Given the description of an element on the screen output the (x, y) to click on. 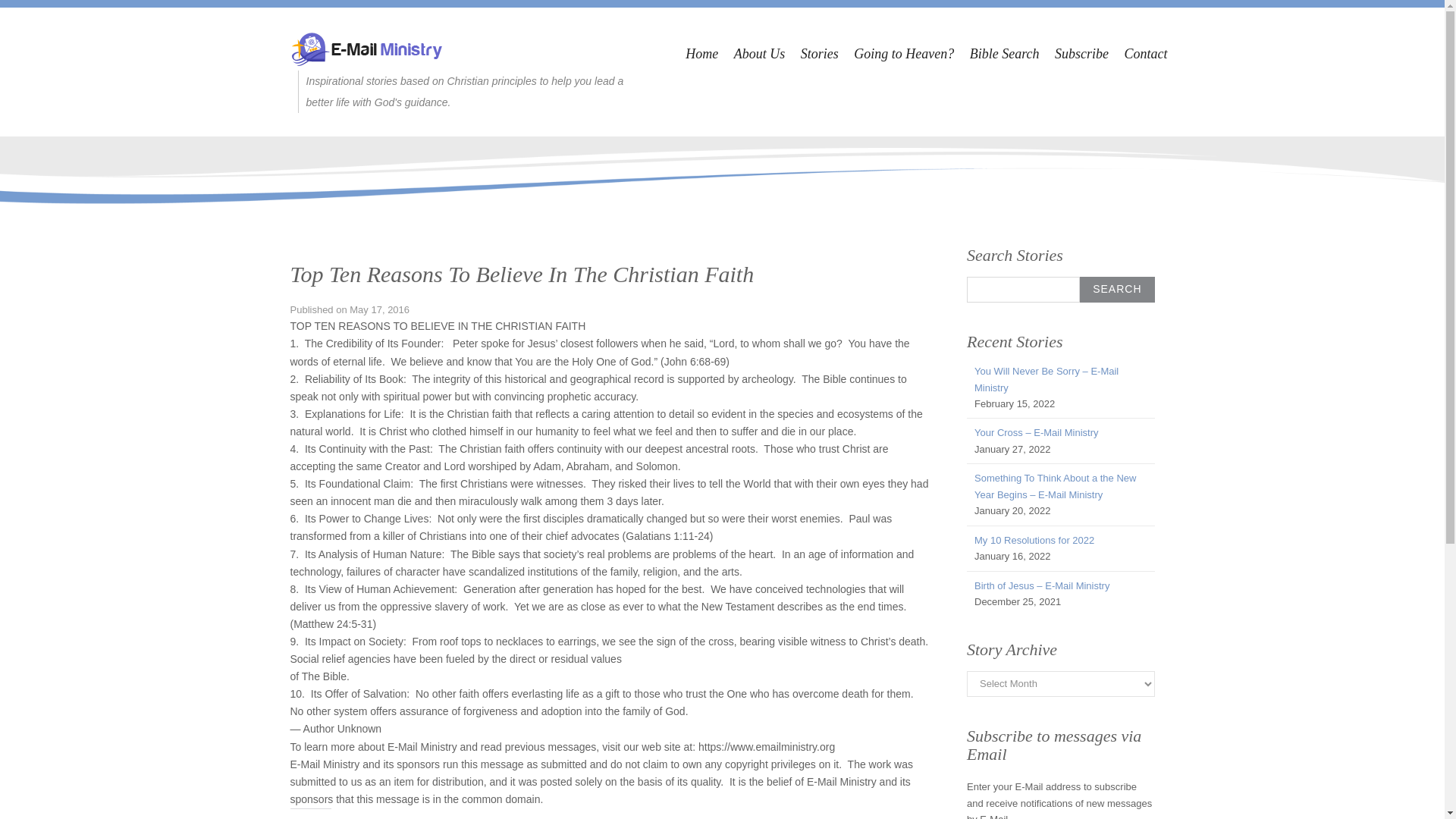
Stories (819, 53)
Going to Heaven? (903, 53)
Contact (1145, 53)
Home (701, 53)
Subscribe (1081, 53)
My 10 Resolutions for 2022 (1034, 540)
Search (1117, 289)
Search (1117, 289)
Bible Search (1004, 53)
About Us (760, 53)
